Given the description of an element on the screen output the (x, y) to click on. 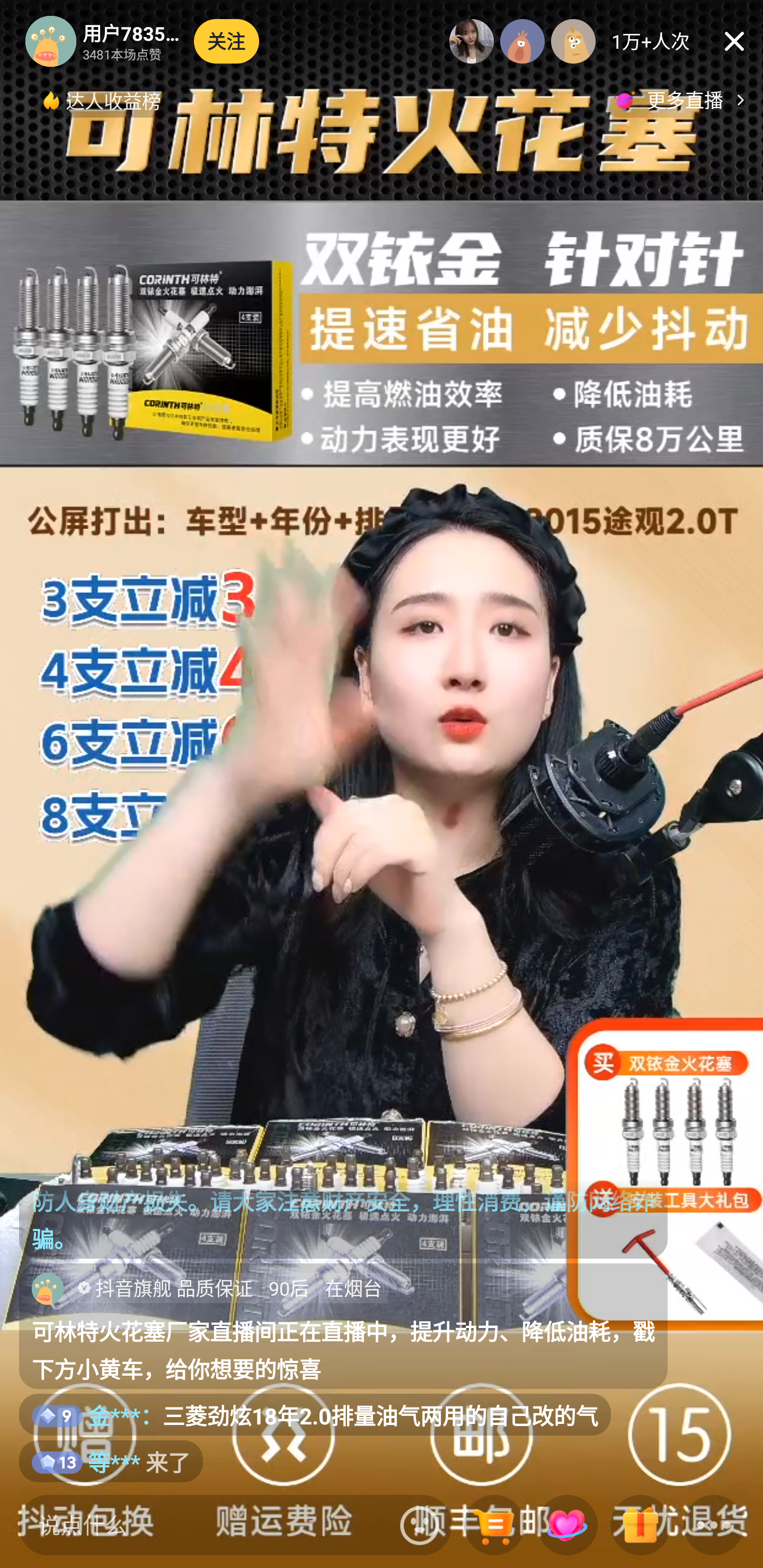
榜一 X*** (471, 41)
榜二 想*** (522, 41)
榜三 朋*** (572, 41)
1万+人次 (650, 41)
关注 (226, 41)
关闭 (733, 41)
达人收益榜，按钮 (102, 100)
更多直播 (682, 100)
* 金***：三菱劲炫18年2.0排量油气两用的自己改的气 (315, 1414)
* 等*** 来了 (110, 1460)
说点什么 (205, 1524)
表情入口 (419, 1524)
商品列表 (493, 1526)
商品列表 (493, 1526)
小心心 (567, 1526)
礼物 (640, 1526)
更多面板 按钮 (713, 1526)
